Given the description of an element on the screen output the (x, y) to click on. 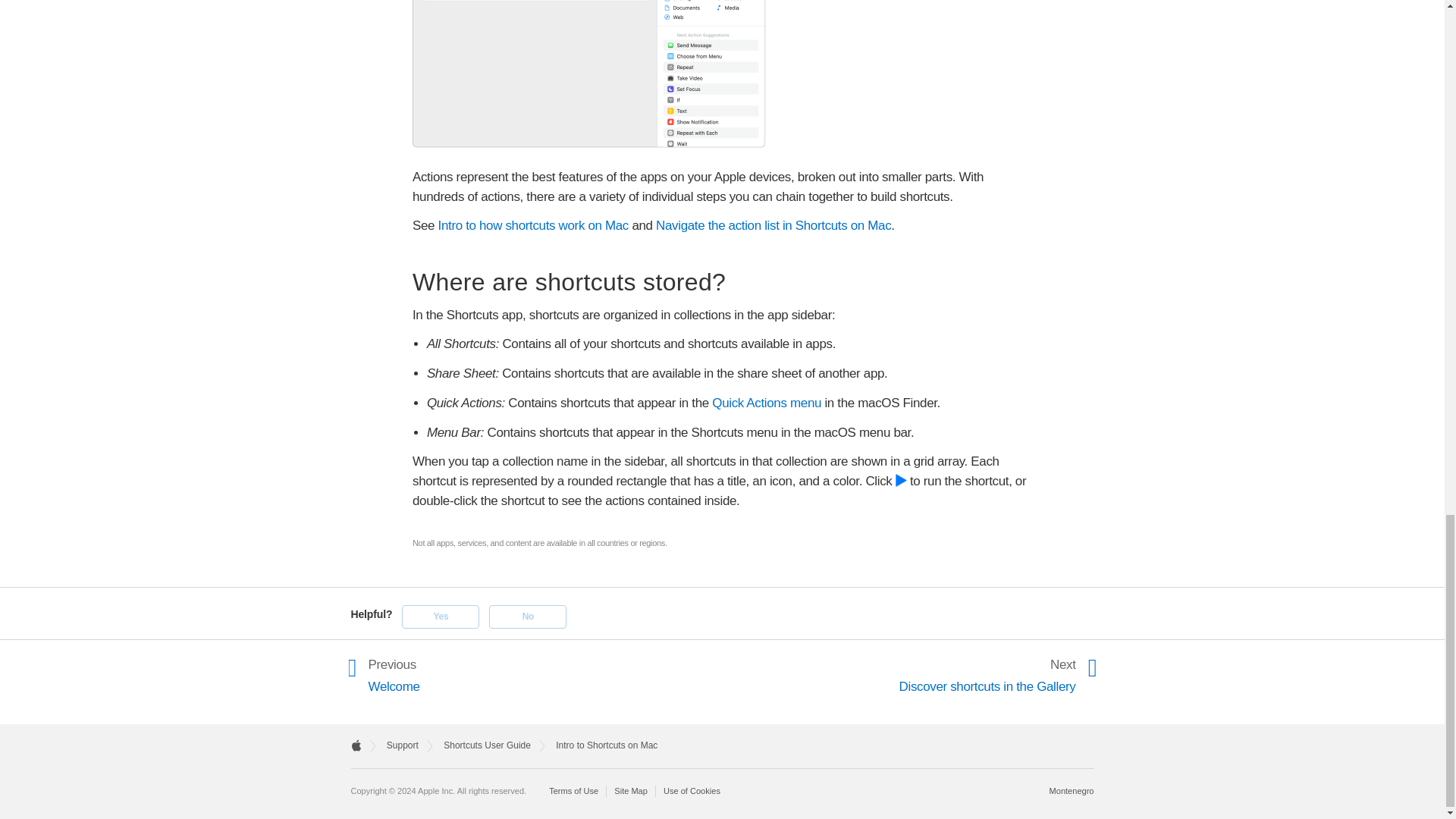
Choose your country or region (1071, 790)
Not helpful (527, 616)
Solved my problem (440, 616)
